Given the description of an element on the screen output the (x, y) to click on. 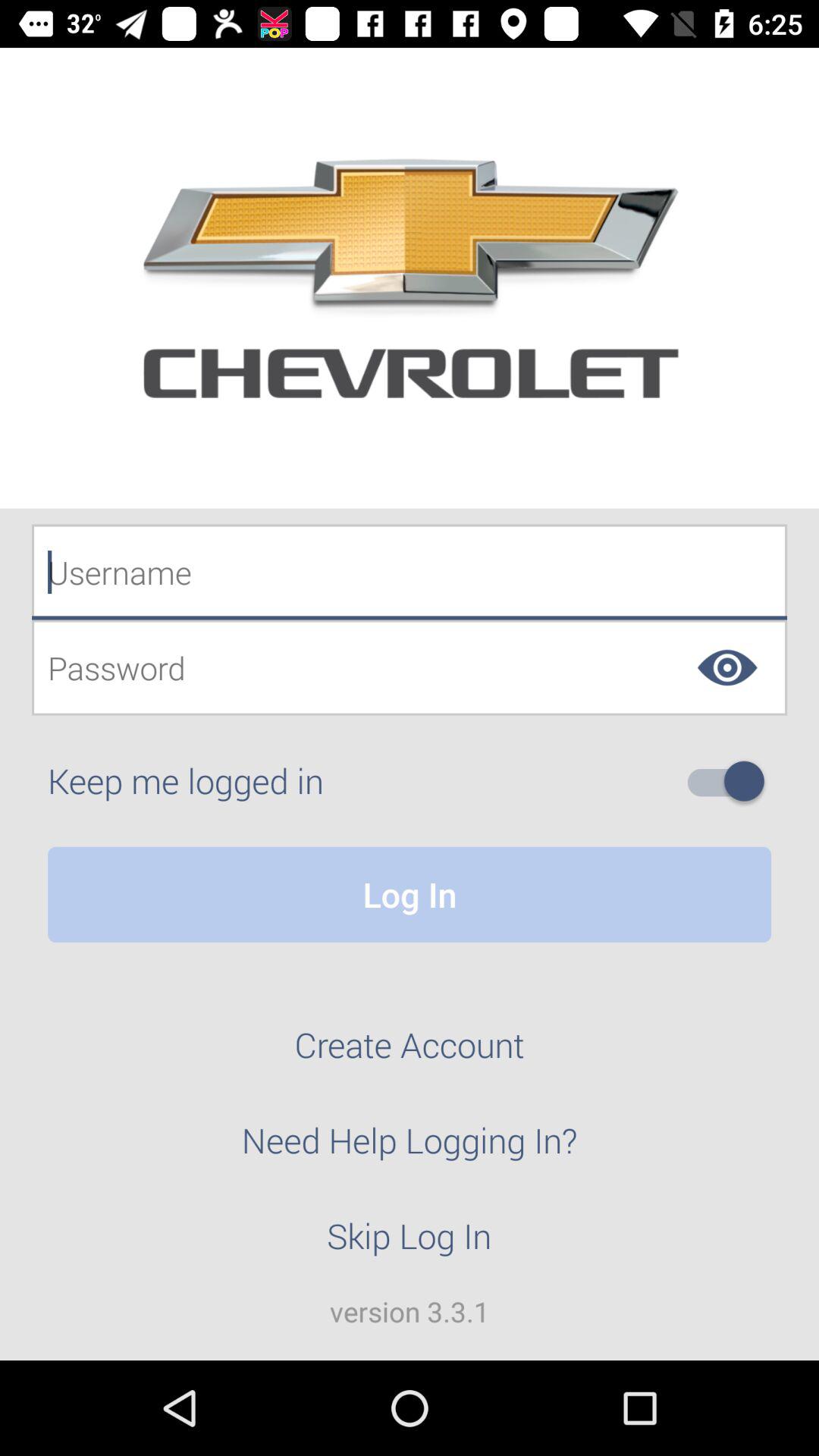
launch the item above the log in icon (731, 781)
